Given the description of an element on the screen output the (x, y) to click on. 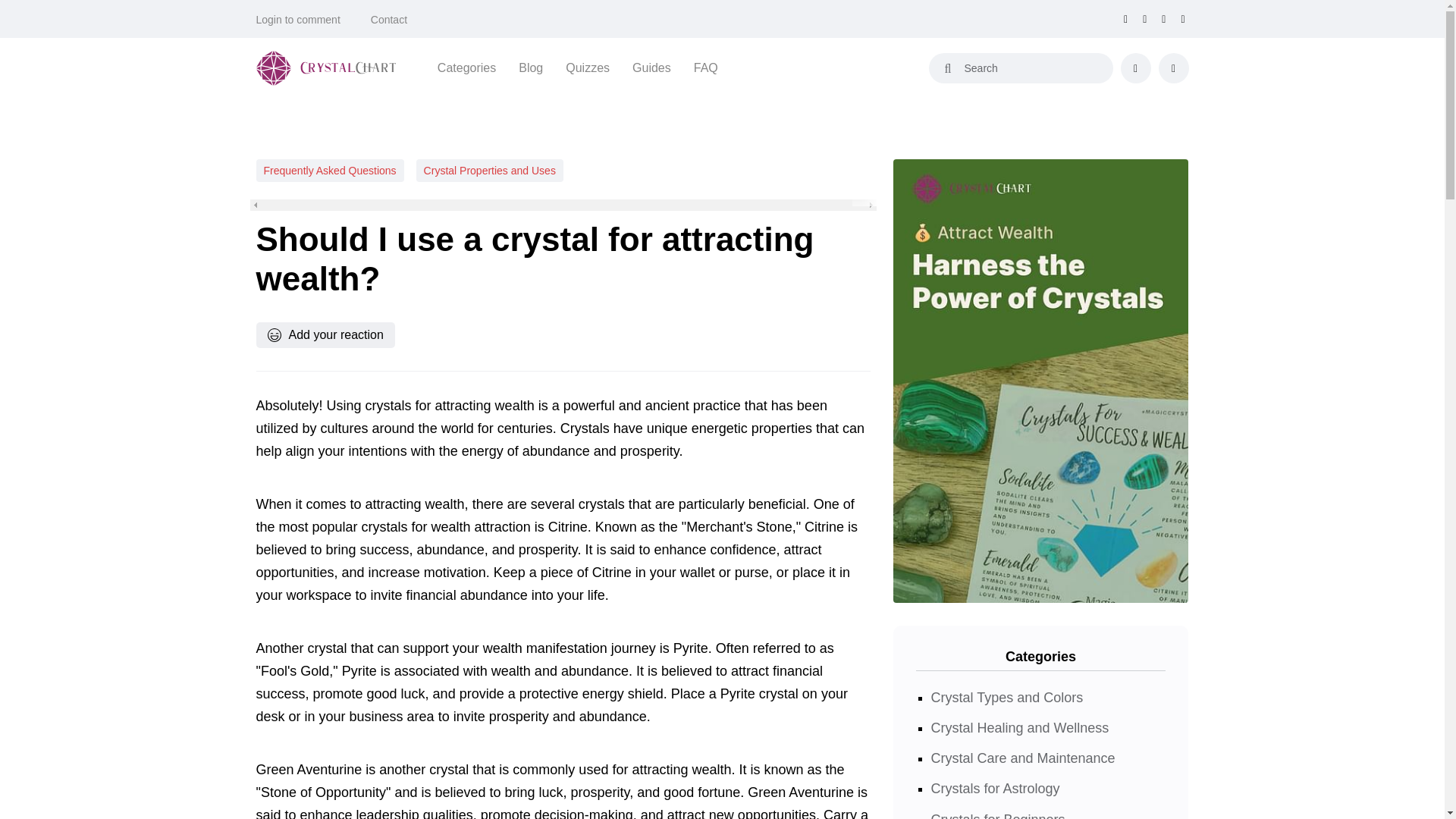
Contact (389, 19)
Categories (467, 67)
Login to comment (298, 19)
